Given the description of an element on the screen output the (x, y) to click on. 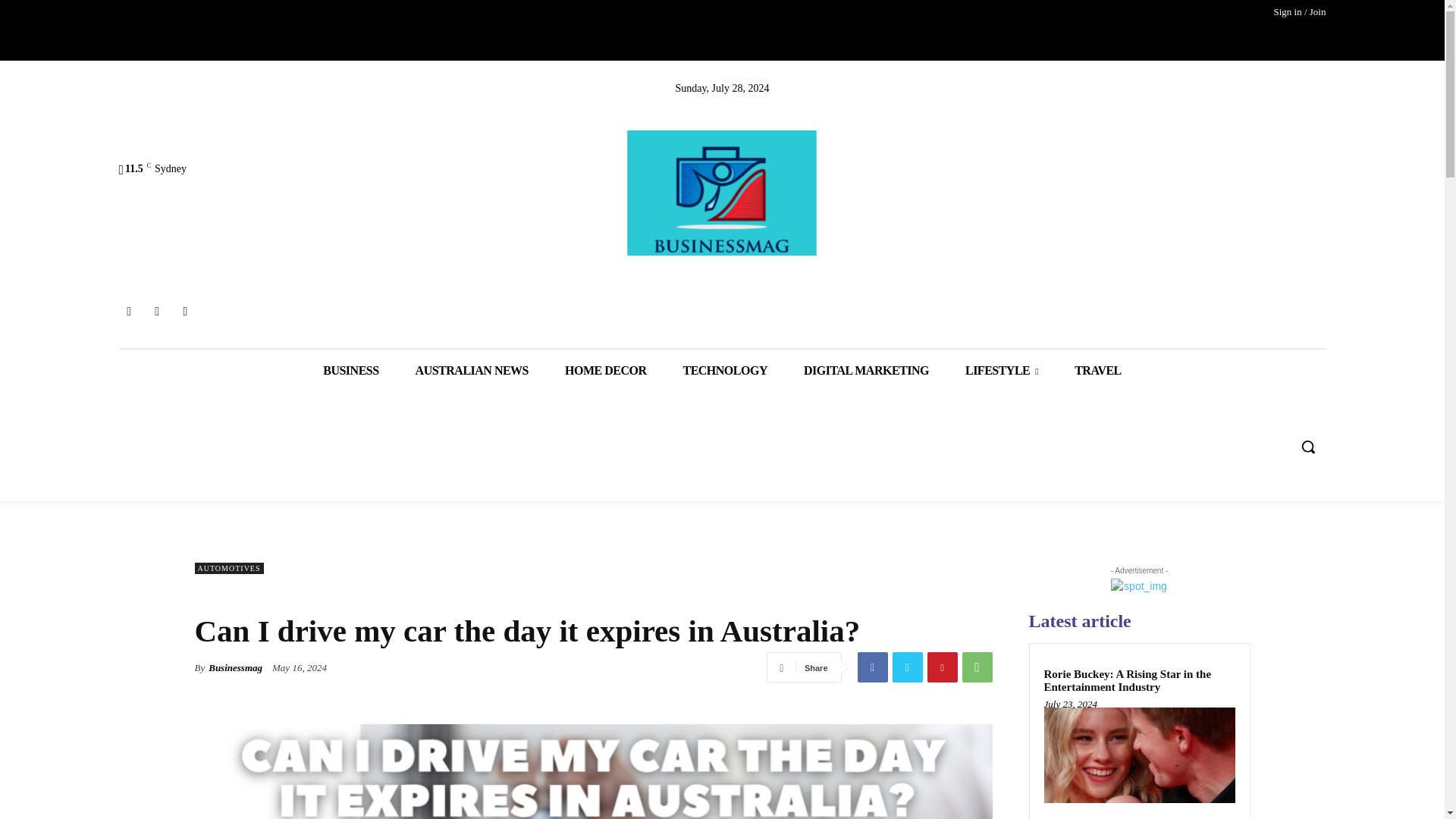
Facebook (871, 666)
Pinterest (941, 666)
Businessmag (235, 667)
TECHNOLOGY (723, 370)
Twitter (906, 666)
TRAVEL (1098, 370)
Youtube (184, 311)
HOME DECOR (605, 370)
AUSTRALIAN NEWS (472, 370)
BUSINESS (350, 370)
Businessmag (721, 192)
AUTOMOTIVES (228, 568)
Facebook (127, 311)
Can I drive my car the day it expires in Australia? (592, 771)
WhatsApp (975, 666)
